Given the description of an element on the screen output the (x, y) to click on. 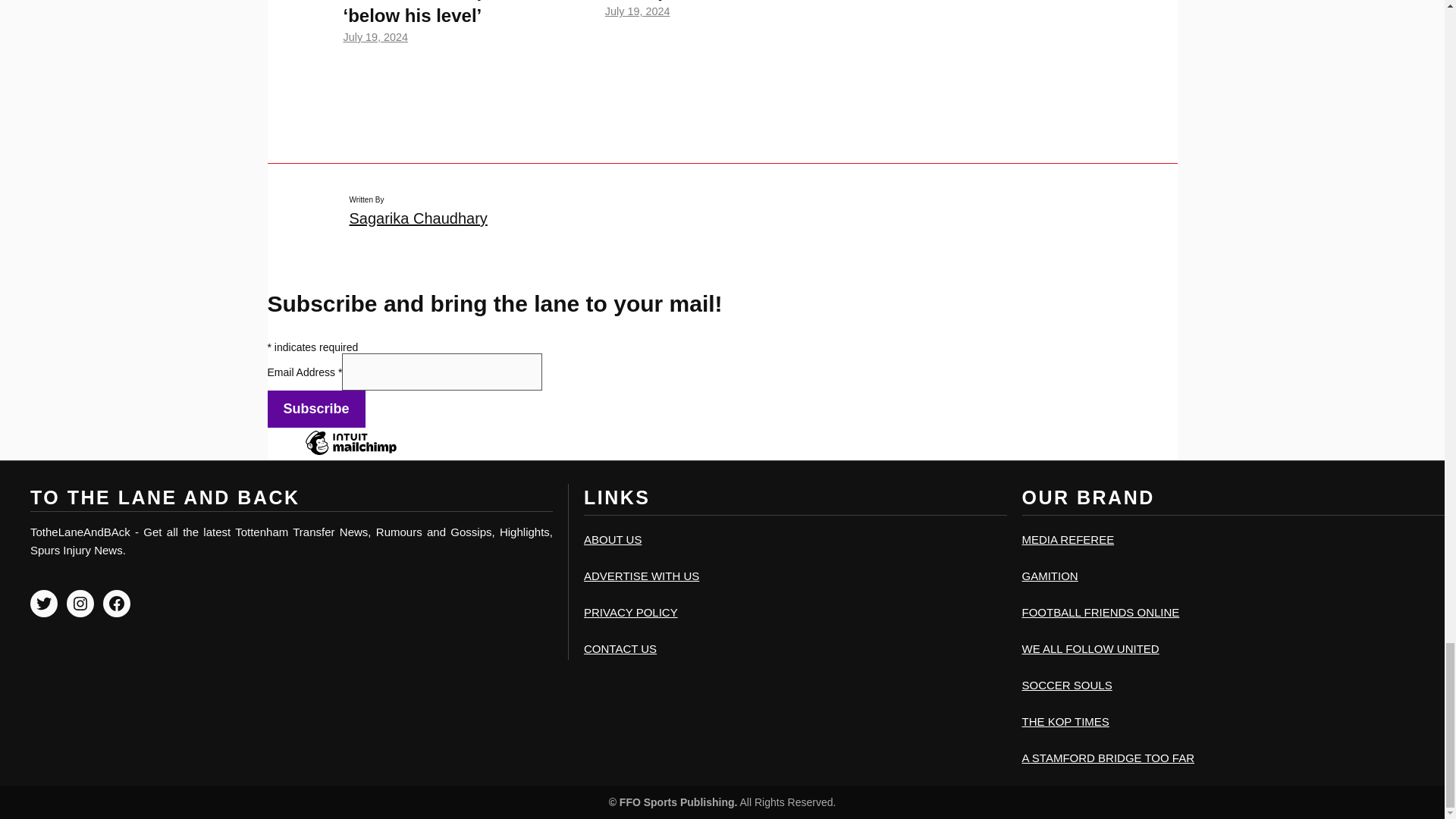
Mailchimp - email marketing made easy and fun (349, 453)
Subscribe (315, 408)
7:00 pm (637, 10)
8:00 pm (374, 37)
